Given the description of an element on the screen output the (x, y) to click on. 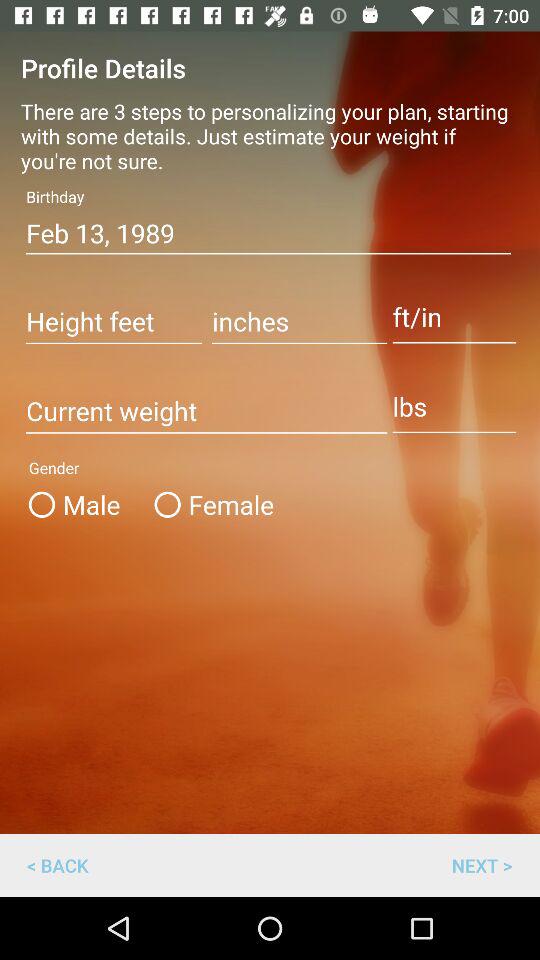
swipe to < back item (57, 864)
